Given the description of an element on the screen output the (x, y) to click on. 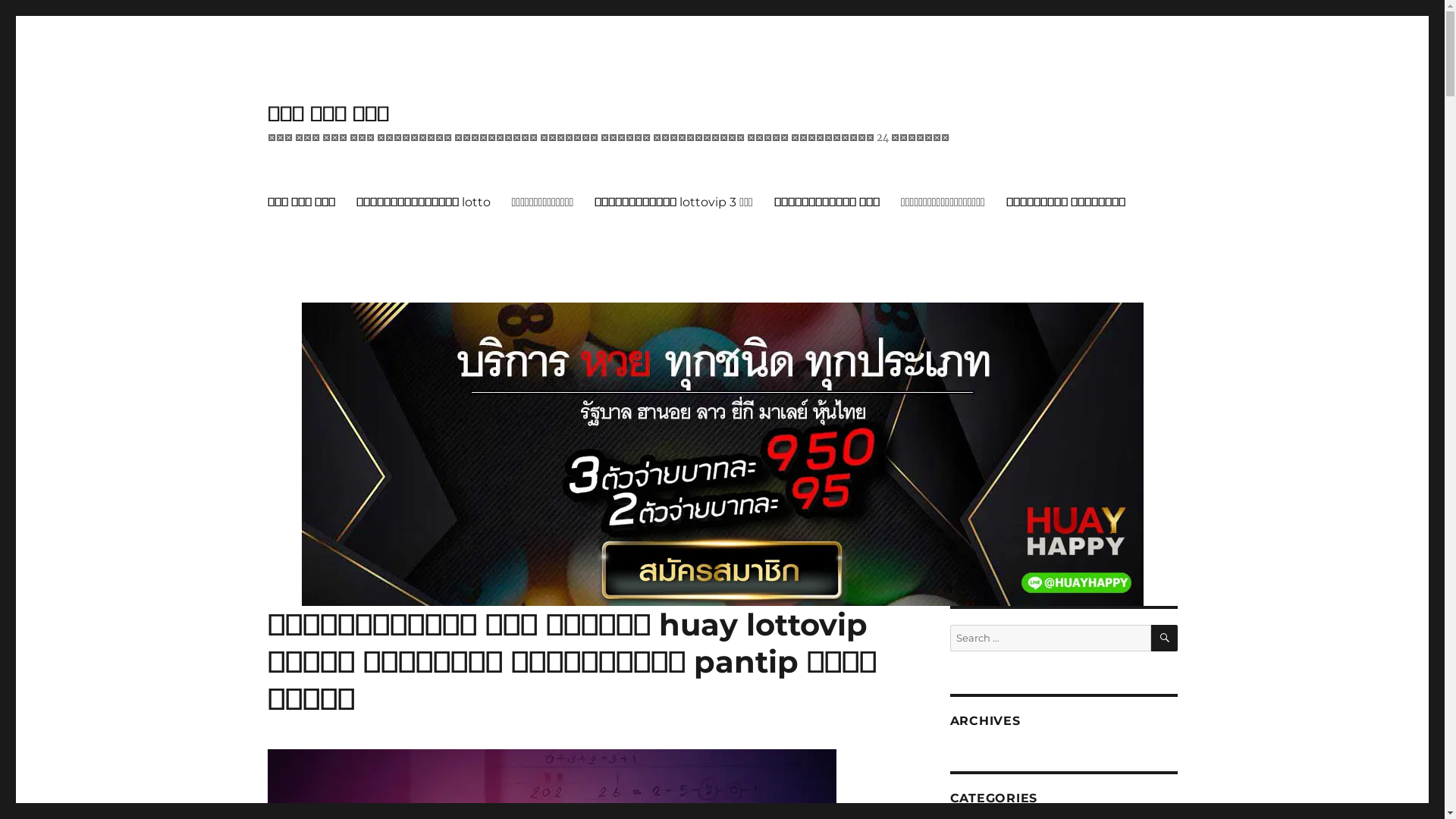
SEARCH Element type: text (1164, 637)
huayhappy Element type: hover (722, 452)
